Given the description of an element on the screen output the (x, y) to click on. 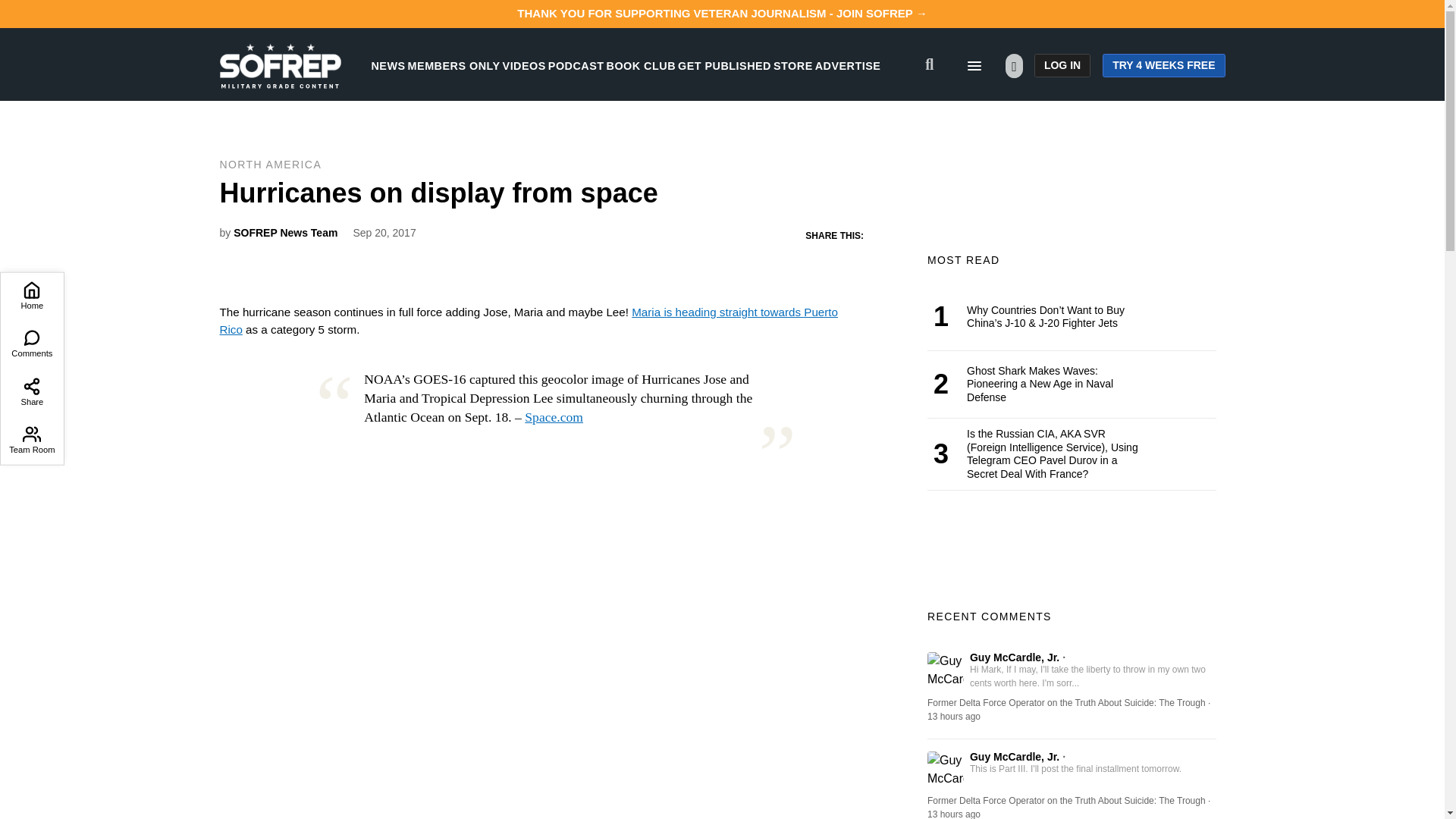
GET PUBLISHED (724, 65)
BOOK CLUB (641, 65)
PODCAST (576, 65)
LOG IN (1061, 65)
MEMBERS ONLY (453, 65)
ADVERTISE (847, 65)
VIDEOS (524, 65)
TRY 4 WEEKS FREE (1163, 65)
STORE (792, 65)
